Given the description of an element on the screen output the (x, y) to click on. 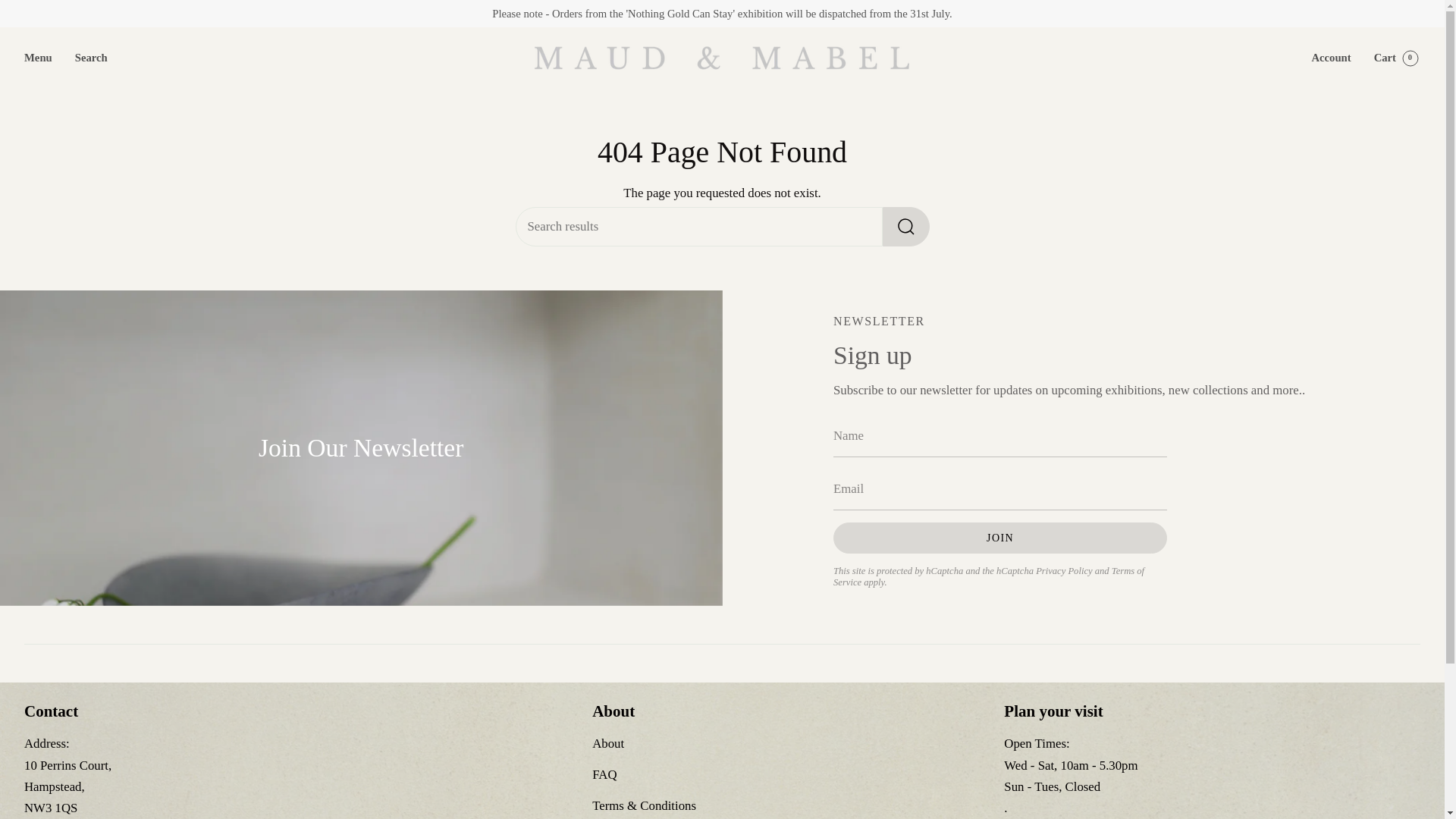
Account (1330, 57)
Search (91, 57)
Menu (38, 57)
